Given the description of an element on the screen output the (x, y) to click on. 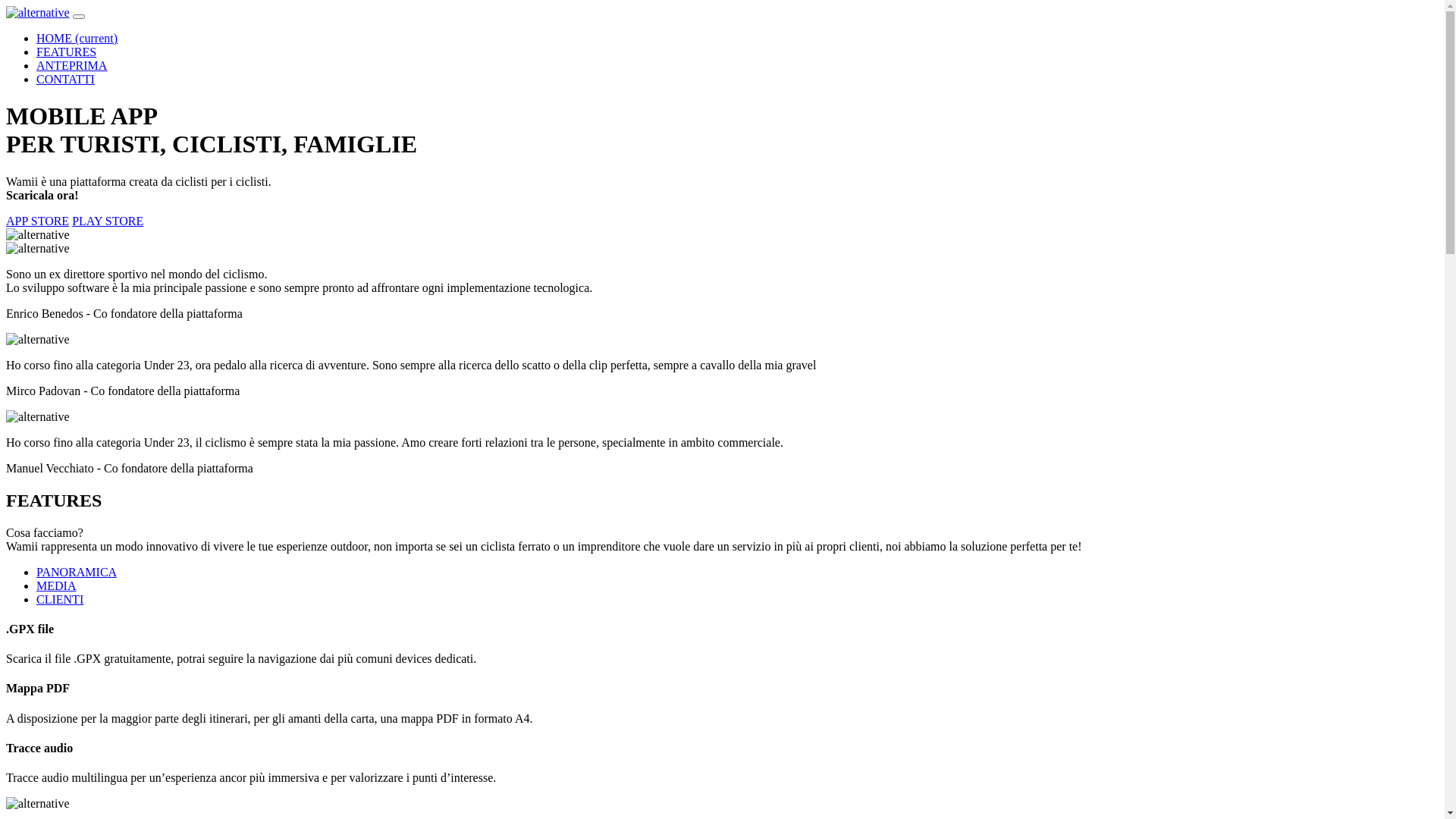
PANORAMICA Element type: text (76, 571)
PLAY STORE Element type: text (107, 220)
CONTATTI Element type: text (65, 78)
HOME (current) Element type: text (76, 37)
FEATURES Element type: text (66, 51)
ANTEPRIMA Element type: text (71, 65)
CLIENTI Element type: text (59, 599)
MEDIA Element type: text (55, 585)
APP STORE Element type: text (37, 220)
